Given the description of an element on the screen output the (x, y) to click on. 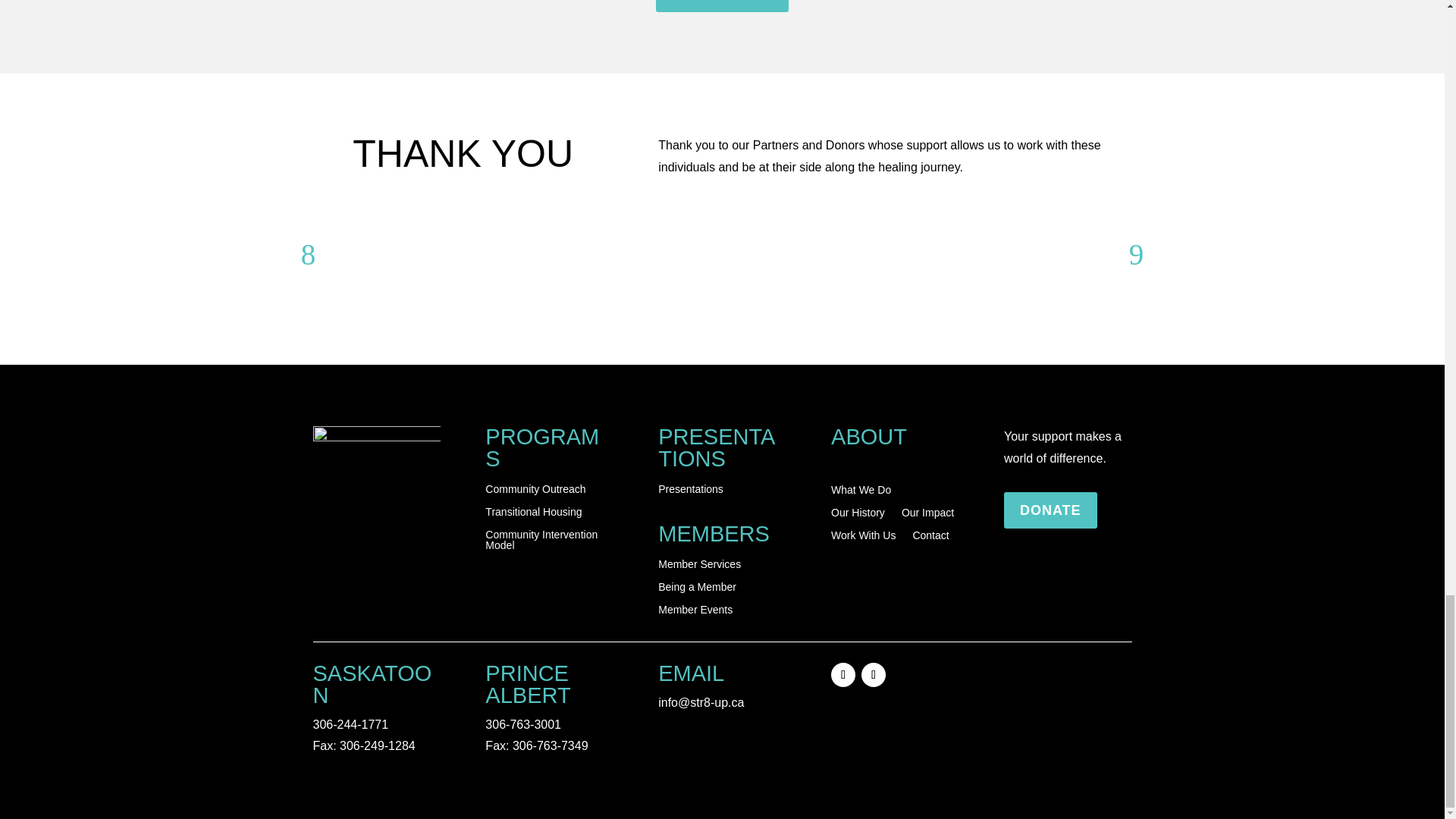
Transitional Housing (532, 514)
Follow on Facebook (843, 674)
Follow on Instagram (873, 674)
Being a Member (697, 589)
Member Services (699, 566)
DONATE NOW (722, 6)
Stacked-Str8Up-Logo-White (376, 474)
Community Outreach (534, 492)
Presentations (690, 492)
Community Intervention Model (548, 542)
